Given the description of an element on the screen output the (x, y) to click on. 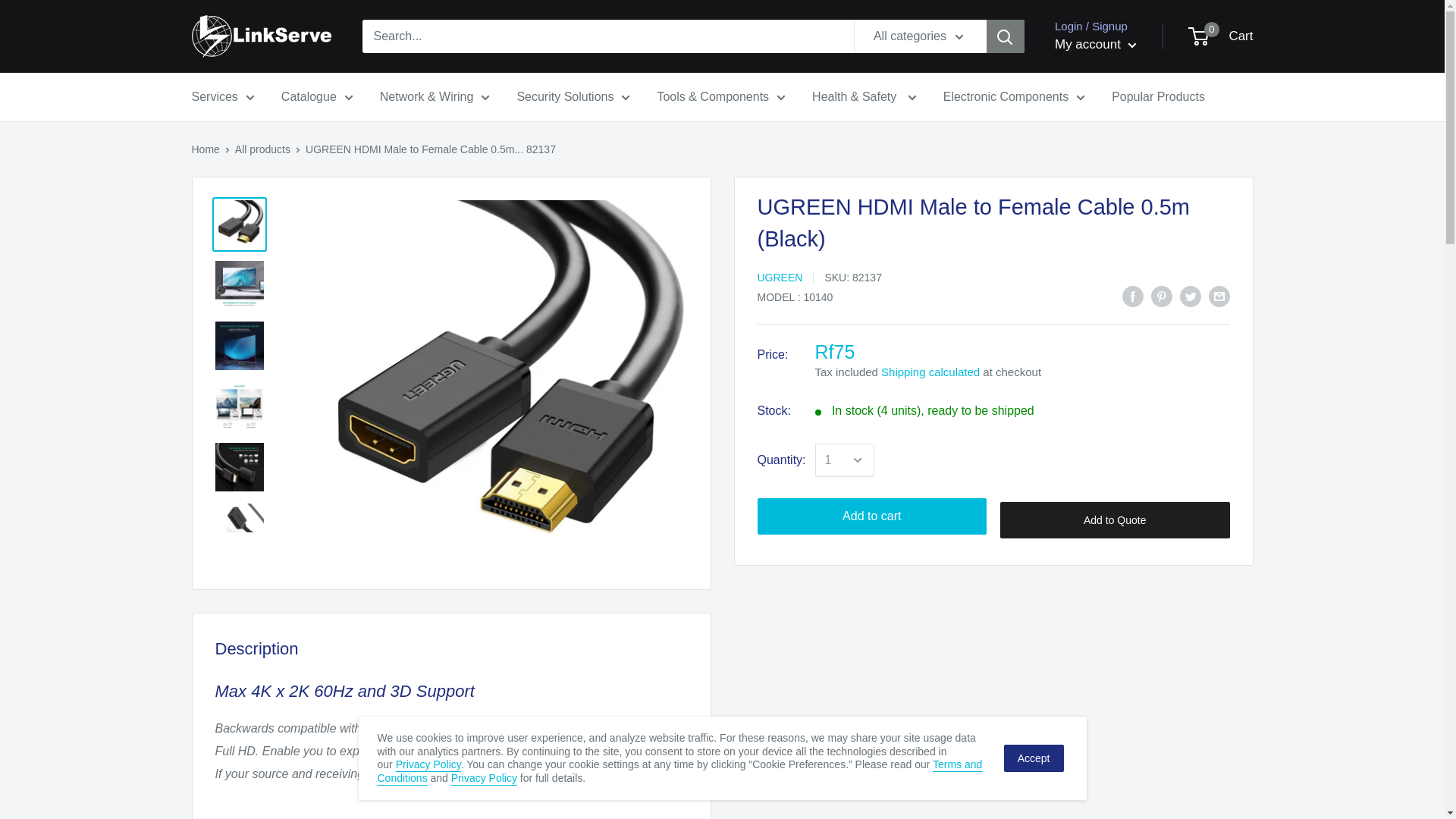
Terms of Service (679, 770)
Privacy Policy (428, 764)
Privacy Policy (483, 777)
